Given the description of an element on the screen output the (x, y) to click on. 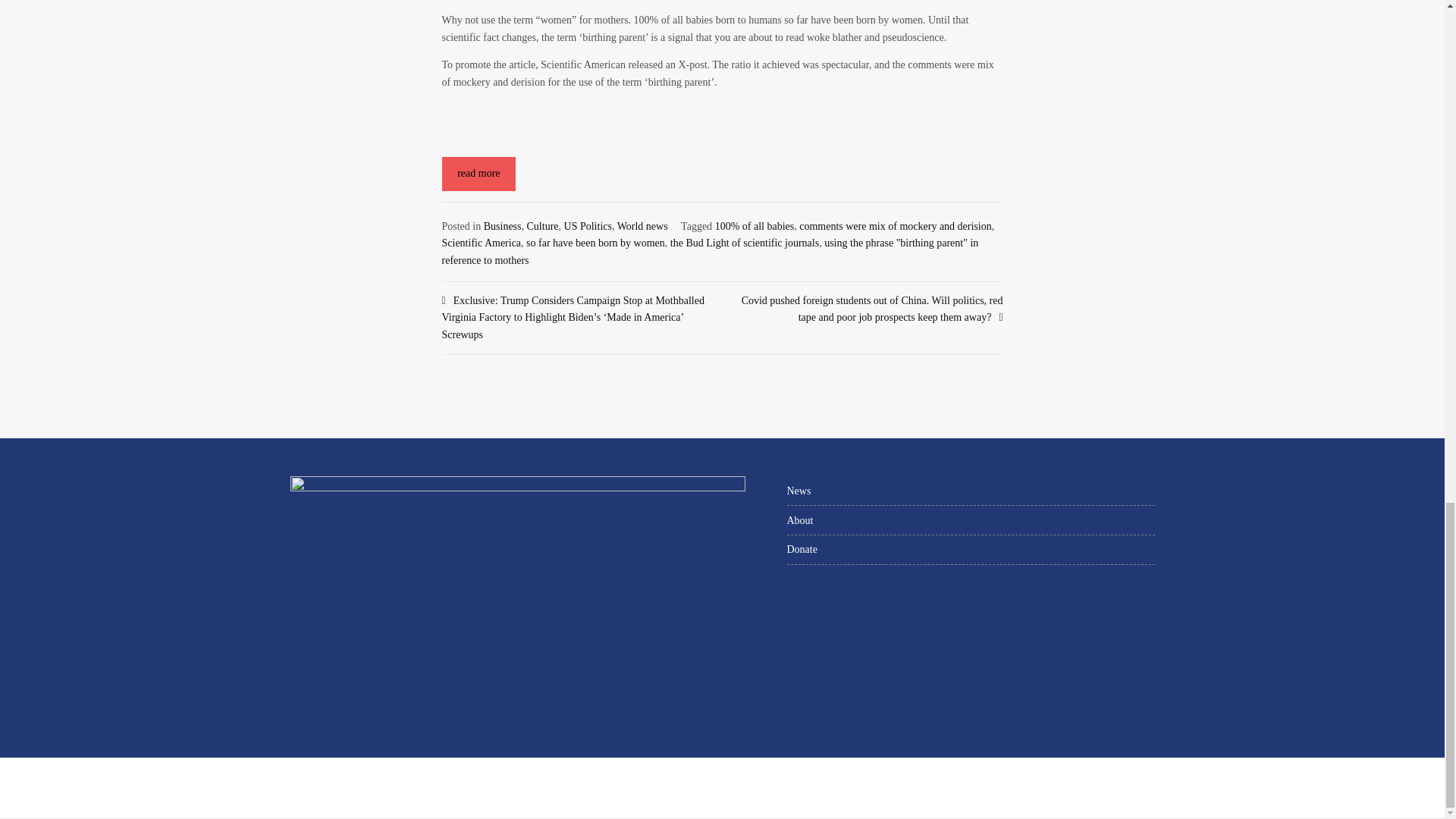
using the phrase "birthing parent" in reference to mothers (709, 251)
Scientific America (481, 242)
Culture (543, 225)
the Bud Light of scientific journals (743, 242)
read more (478, 173)
World news (642, 225)
Donate (970, 550)
US Politics (587, 225)
News (970, 490)
About (970, 520)
Business (502, 225)
so far have been born by women (595, 242)
comments were mix of mockery and derision (895, 225)
